Given the description of an element on the screen output the (x, y) to click on. 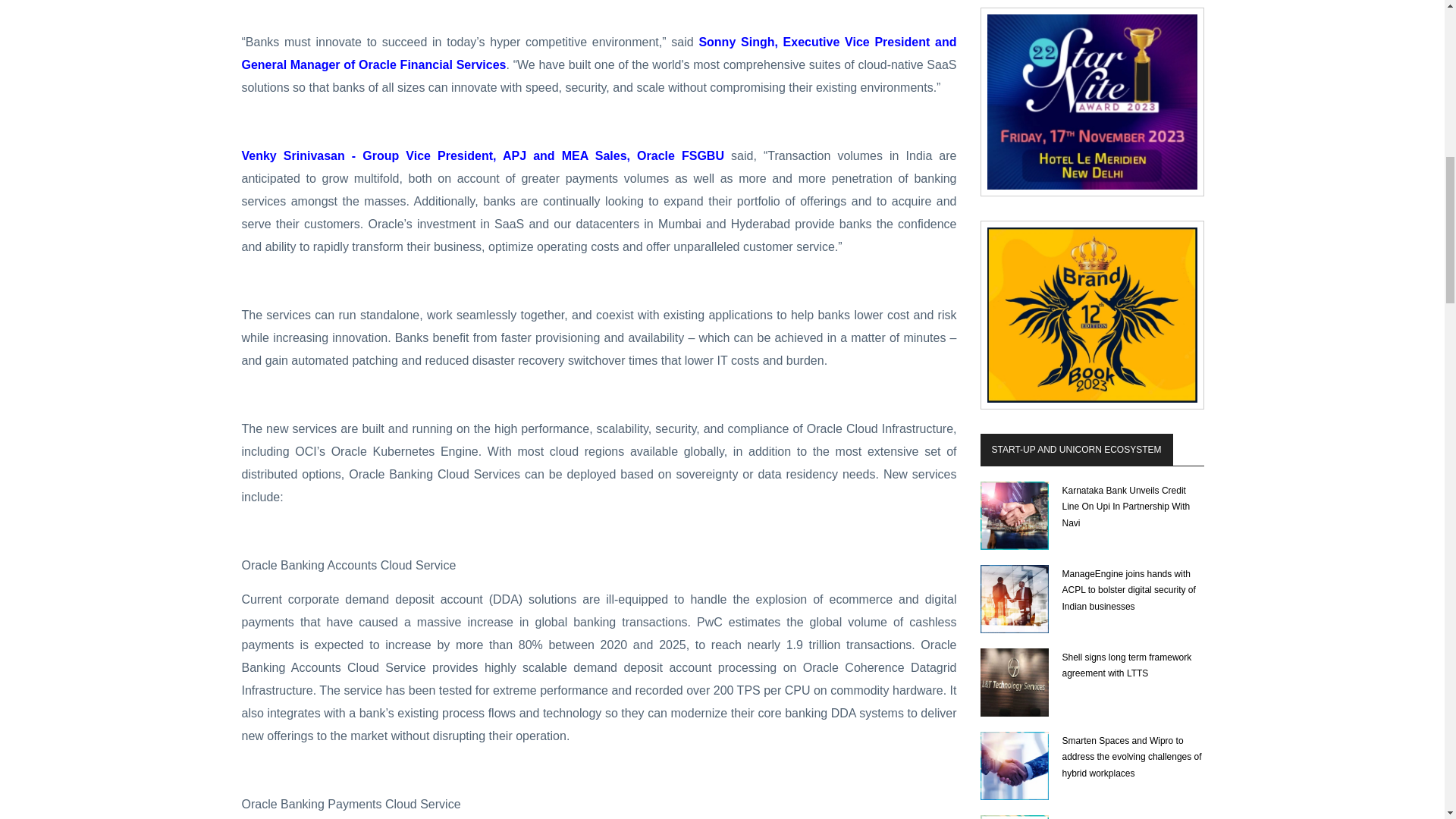
Shell signs long term framework agreement with LTTS (1013, 682)
